Given the description of an element on the screen output the (x, y) to click on. 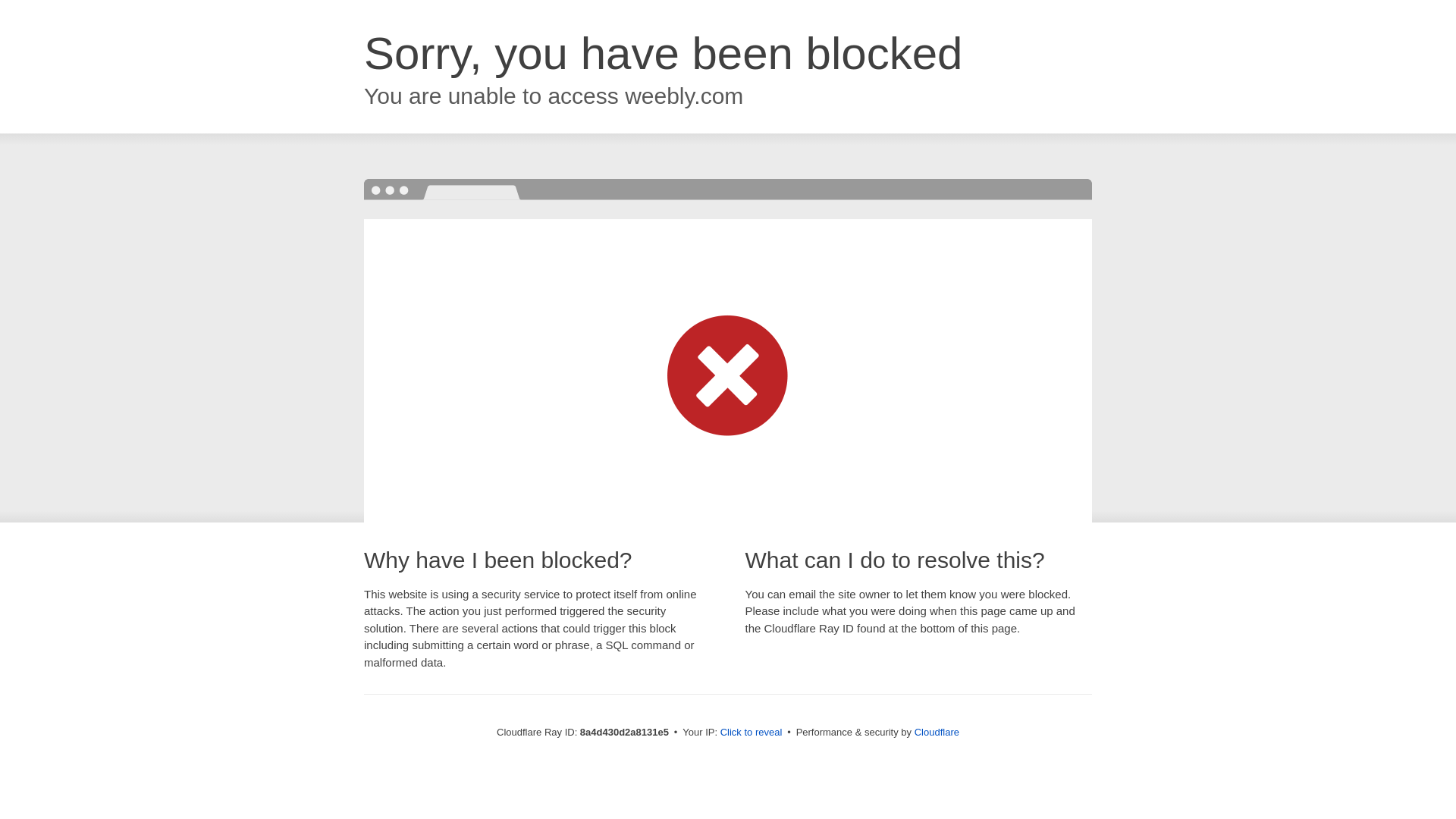
Click to reveal (751, 732)
Cloudflare (936, 731)
